Given the description of an element on the screen output the (x, y) to click on. 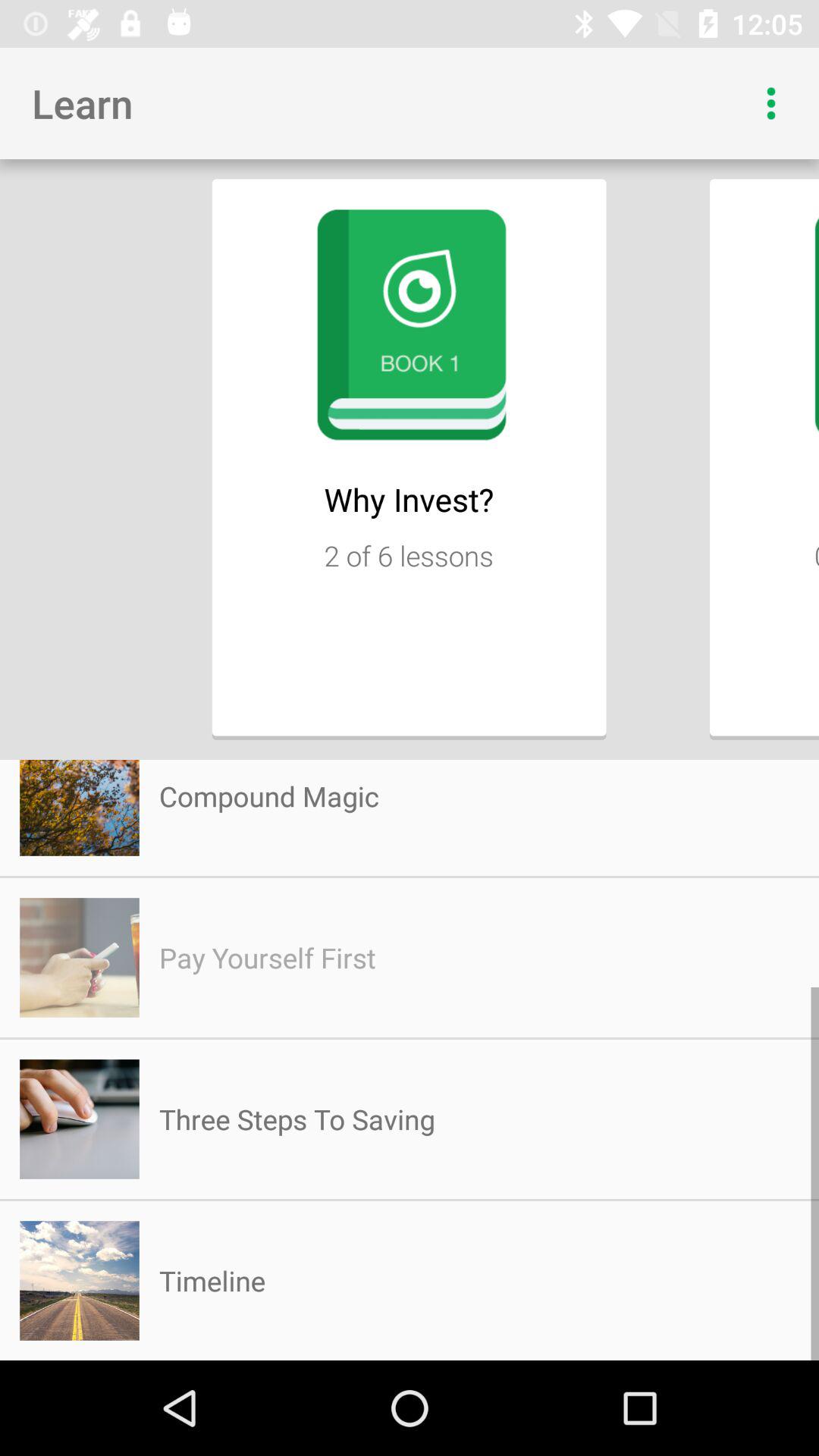
menu (771, 103)
